Given the description of an element on the screen output the (x, y) to click on. 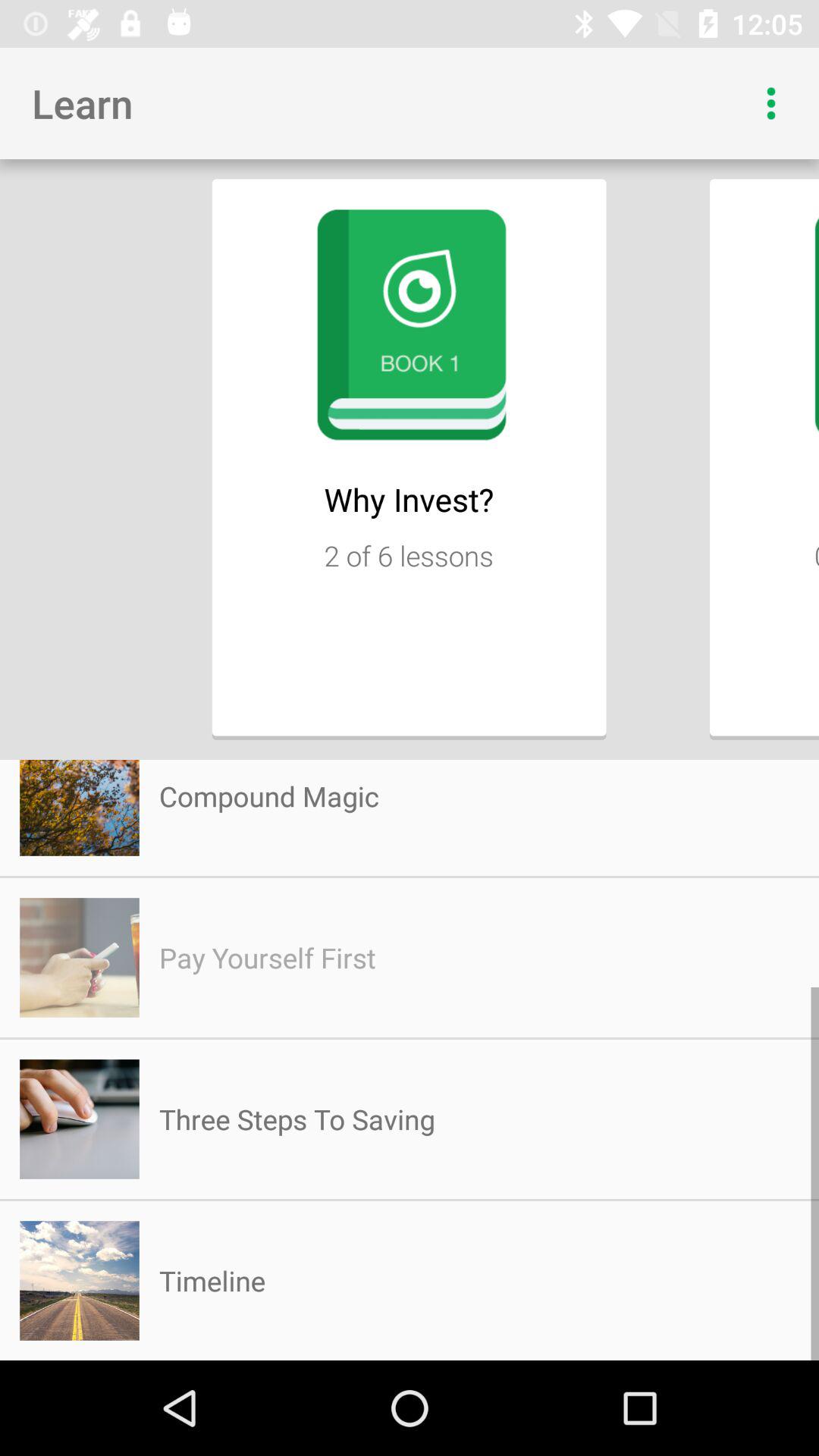
menu (771, 103)
